Given the description of an element on the screen output the (x, y) to click on. 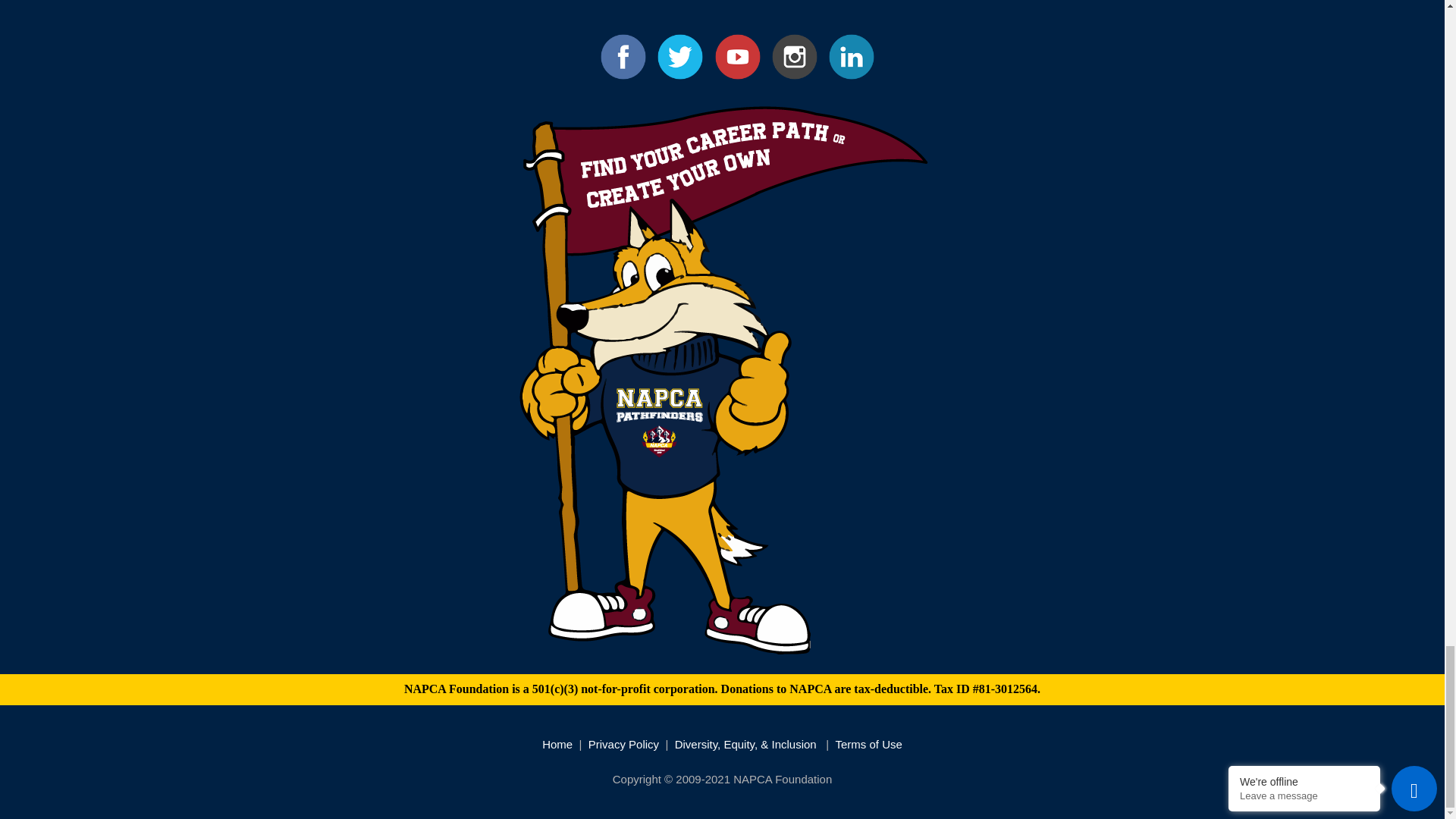
Terms of Use (867, 744)
Home (556, 744)
Privacy Policy (623, 744)
